Given the description of an element on the screen output the (x, y) to click on. 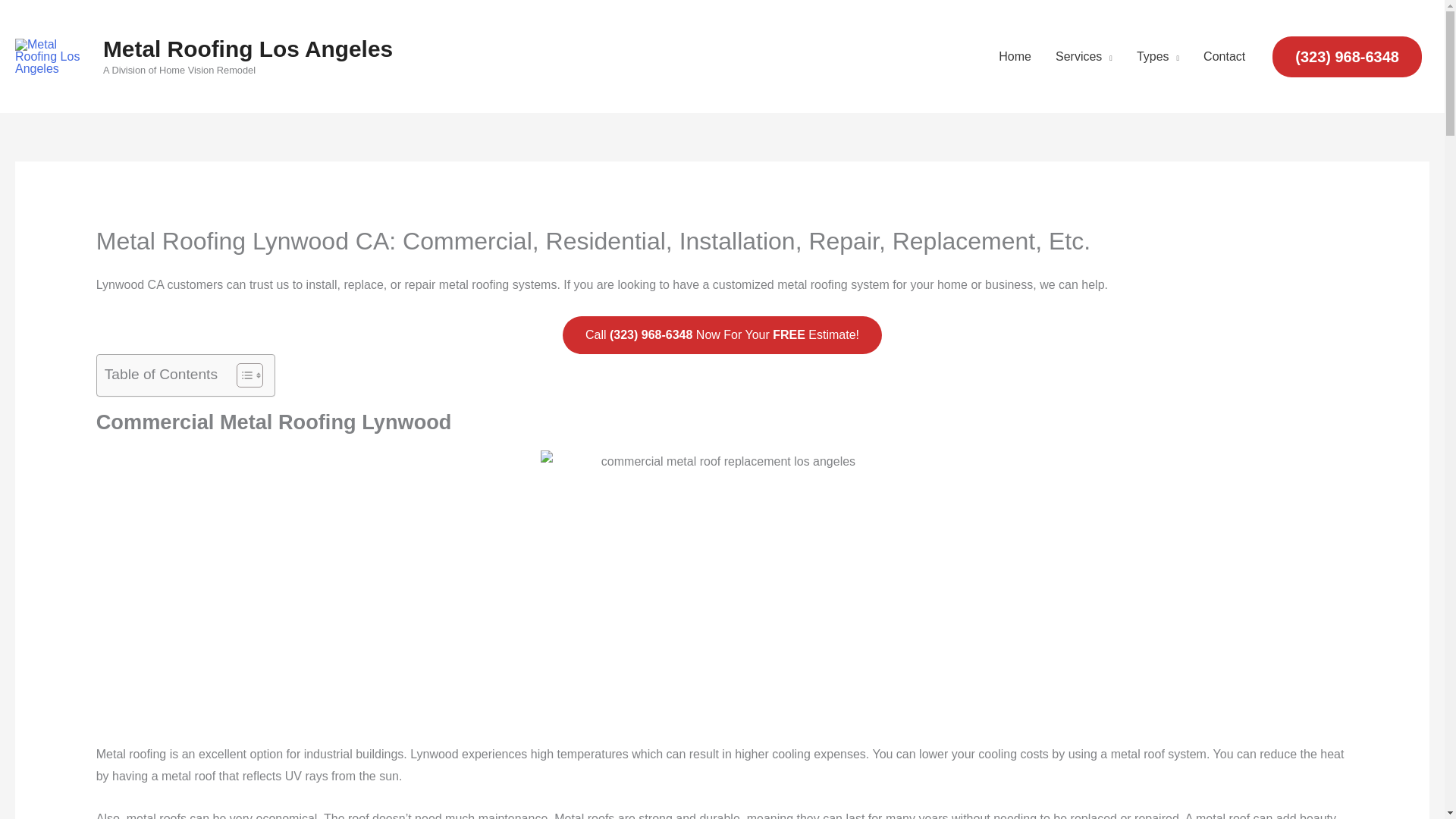
Home (1015, 56)
Metal Roofing Los Angeles (248, 48)
Contact (1224, 56)
Types (1157, 56)
Services (1083, 56)
